Given the description of an element on the screen output the (x, y) to click on. 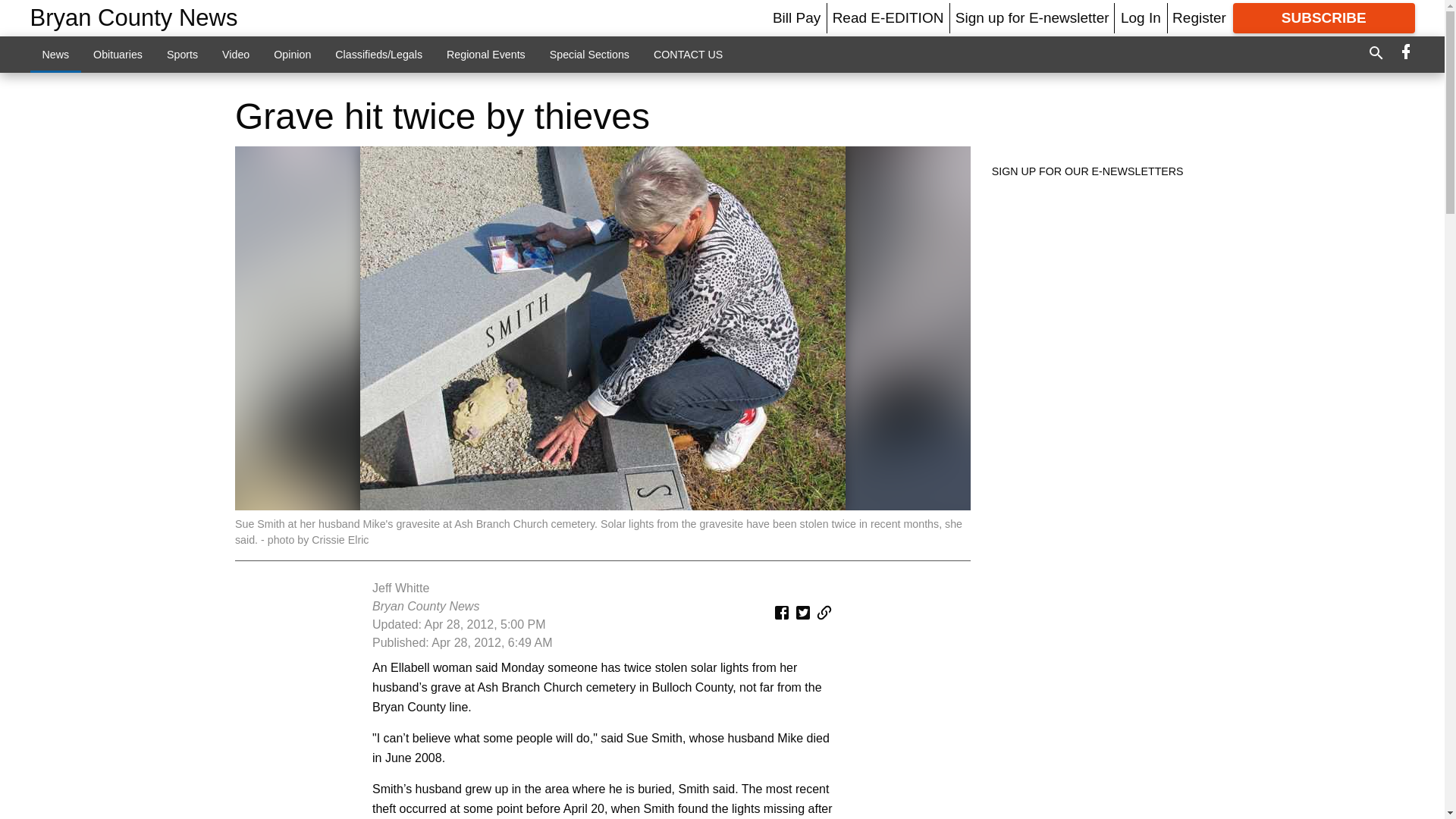
SUBSCRIBE (1324, 18)
Log In (1140, 17)
Obituaries (117, 54)
Sports (181, 54)
Read E-EDITION (887, 17)
Opinion (292, 54)
Regional Events (485, 54)
Register (1198, 17)
Video (235, 54)
Bryan County News (134, 17)
